Given the description of an element on the screen output the (x, y) to click on. 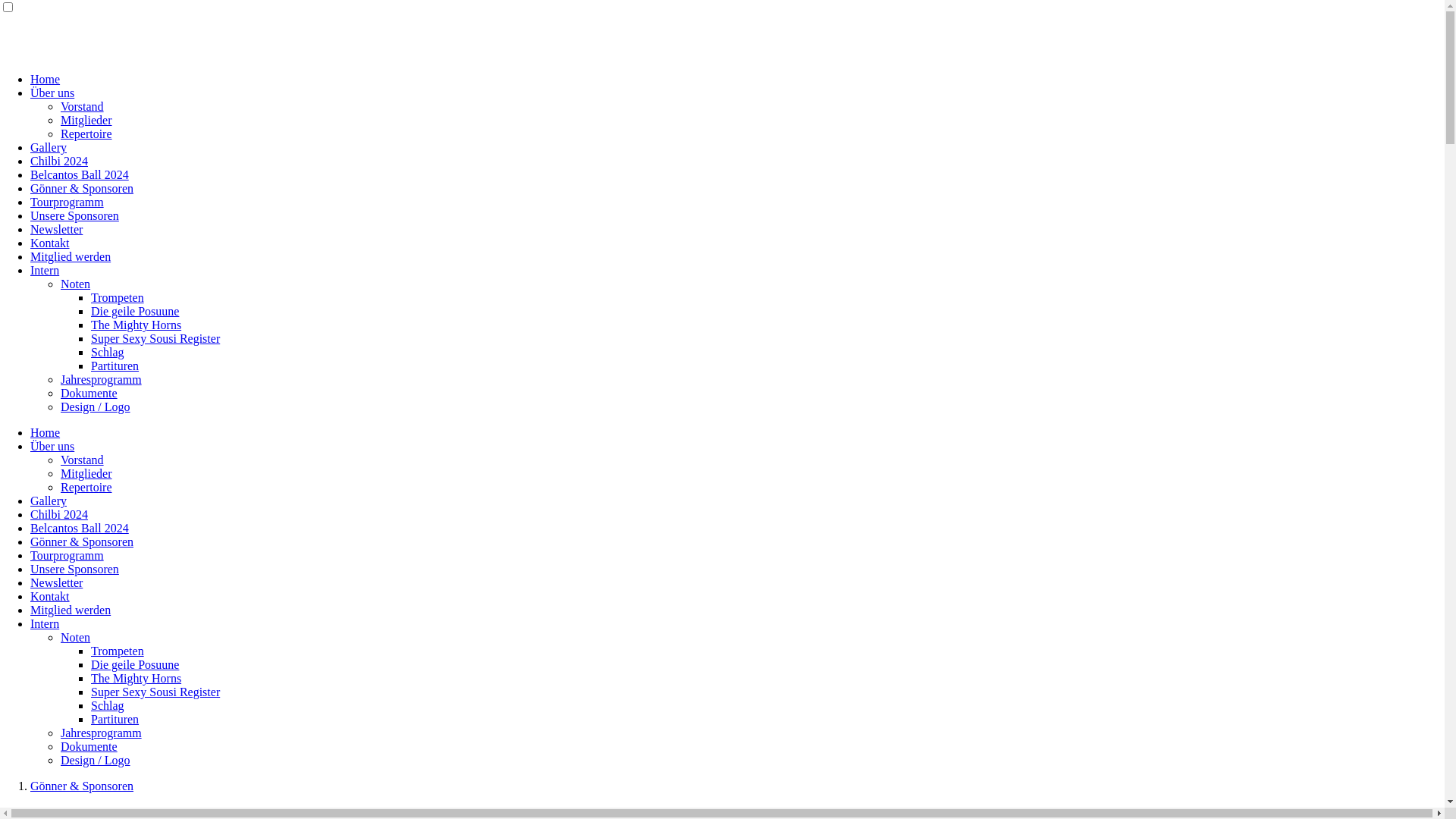
Dokumente Element type: text (88, 392)
Newsletter Element type: text (56, 582)
Unsere Sponsoren Element type: text (74, 215)
Chilbi 2024 Element type: text (58, 160)
Belcantos Ball 2024 Element type: text (79, 527)
Tourprogramm Element type: text (66, 555)
Mitglieder Element type: text (86, 119)
Kontakt Element type: text (49, 242)
Die geile Posuune Element type: text (134, 310)
Home Element type: text (44, 78)
Intern Element type: text (44, 269)
Dokumente Element type: text (88, 746)
Jahresprogramm Element type: text (100, 379)
Mitglied werden Element type: text (70, 609)
Mitglieder Element type: text (86, 473)
Partituren Element type: text (114, 365)
Newsletter Element type: text (56, 228)
Design / Logo Element type: text (95, 406)
Trompeten Element type: text (117, 297)
Vorstand Element type: text (81, 106)
Chilbi 2024 Element type: text (58, 514)
Repertoire Element type: text (86, 133)
Kontakt Element type: text (49, 595)
Repertoire Element type: text (86, 486)
Super Sexy Sousi Register Element type: text (155, 691)
Die geile Posuune Element type: text (134, 664)
Intern Element type: text (44, 623)
The Mighty Horns Element type: text (136, 324)
Jahresprogramm Element type: text (100, 732)
Partituren Element type: text (114, 718)
The Mighty Horns Element type: text (136, 677)
Gallery Element type: text (48, 147)
Tourprogramm Element type: text (66, 201)
Unsere Sponsoren Element type: text (74, 568)
Noten Element type: text (75, 283)
Schlag Element type: text (107, 705)
Schlag Element type: text (107, 351)
Gallery Element type: text (48, 500)
Design / Logo Element type: text (95, 759)
Super Sexy Sousi Register Element type: text (155, 338)
Trompeten Element type: text (117, 650)
Mitglied werden Element type: text (70, 256)
Belcantos Ball 2024 Element type: text (79, 174)
Vorstand Element type: text (81, 459)
Noten Element type: text (75, 636)
Home Element type: text (44, 432)
